Given the description of an element on the screen output the (x, y) to click on. 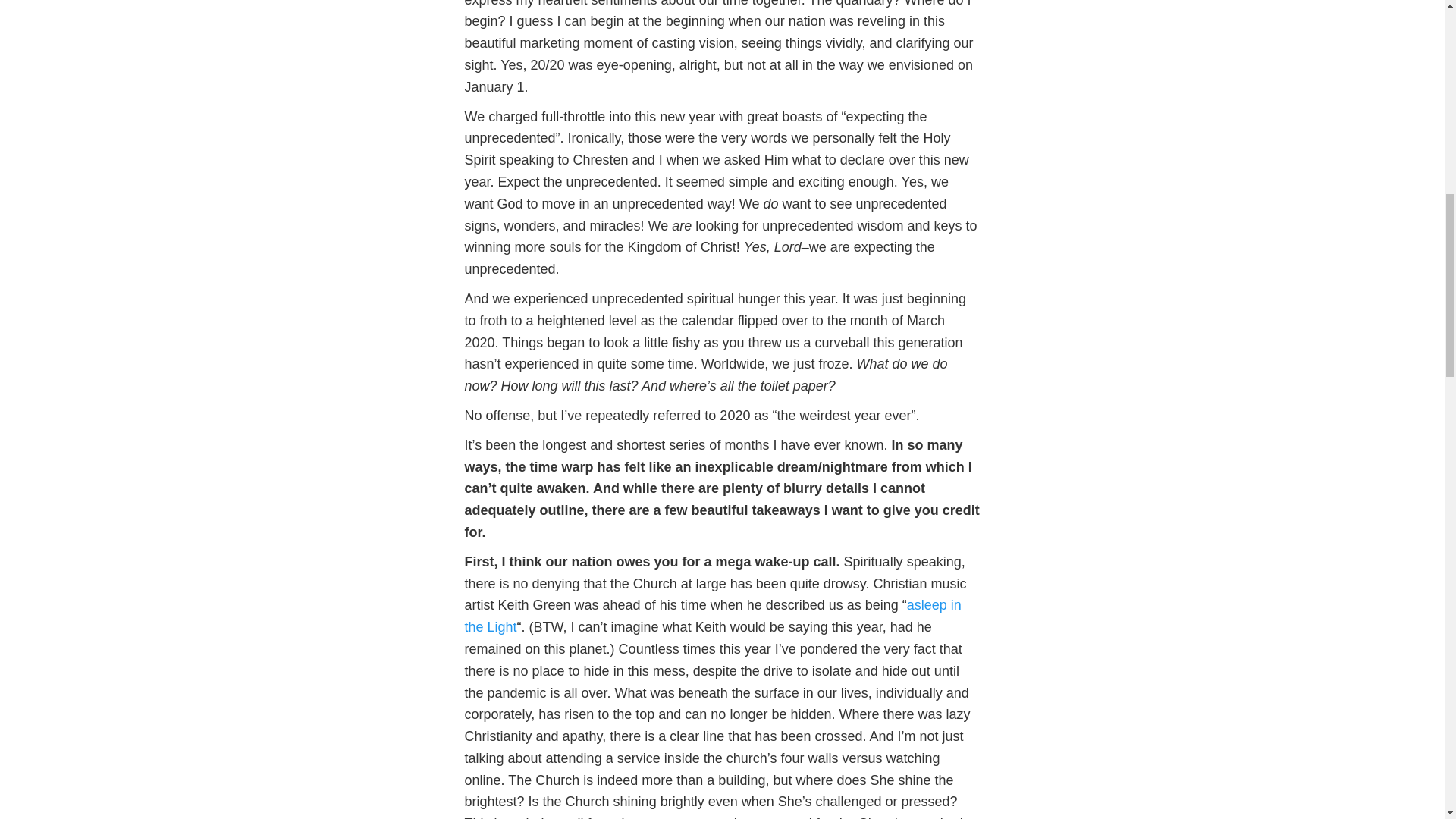
asleep in the Light (712, 615)
